Given the description of an element on the screen output the (x, y) to click on. 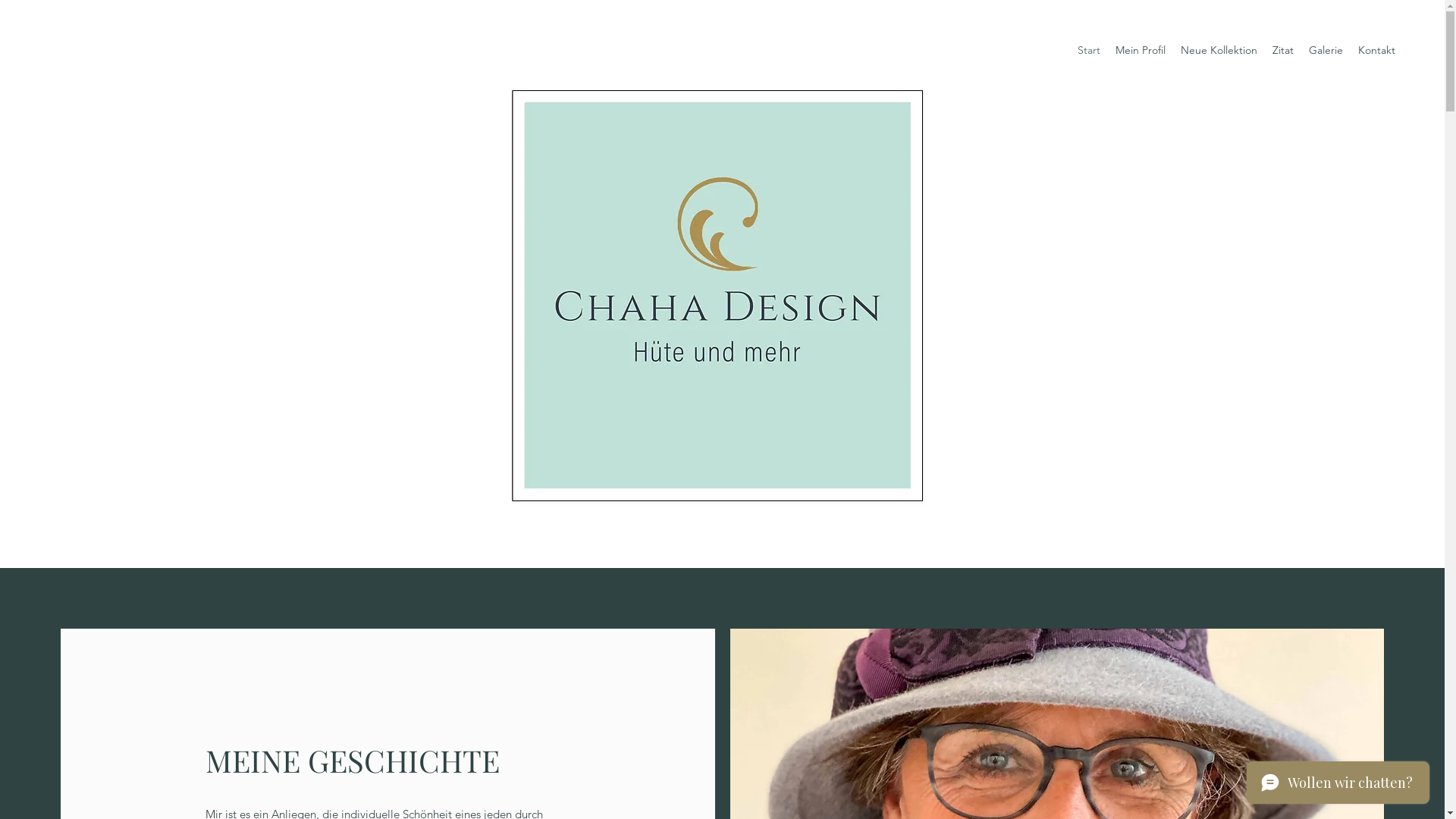
Neue Kollektion Element type: text (1218, 50)
Zitat Element type: text (1282, 50)
Kontakt Element type: text (1376, 50)
Start Element type: text (1088, 50)
Mein Profil Element type: text (1140, 50)
Galerie Element type: text (1325, 50)
